Given the description of an element on the screen output the (x, y) to click on. 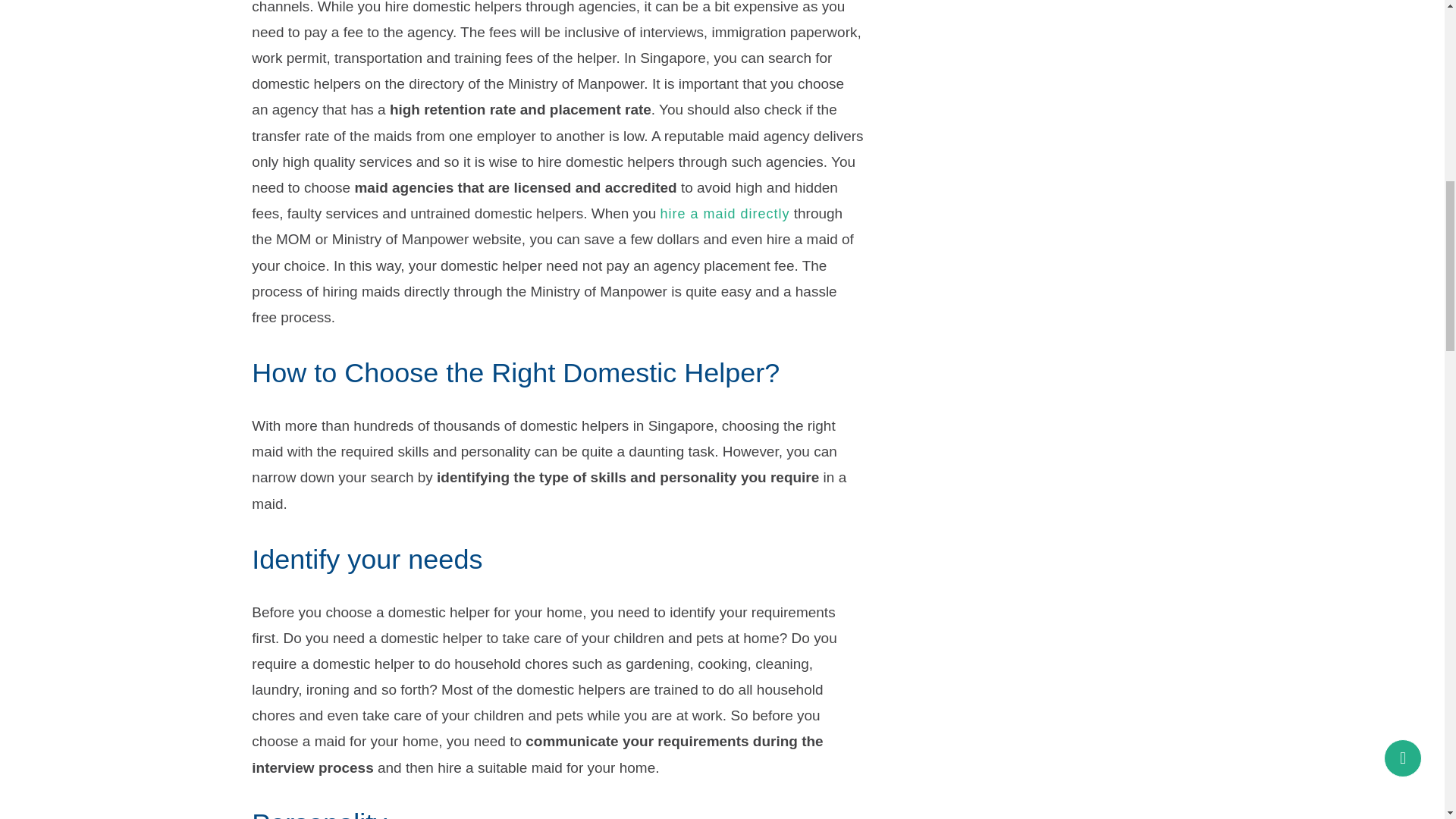
hire a maid directly (725, 213)
